Given the description of an element on the screen output the (x, y) to click on. 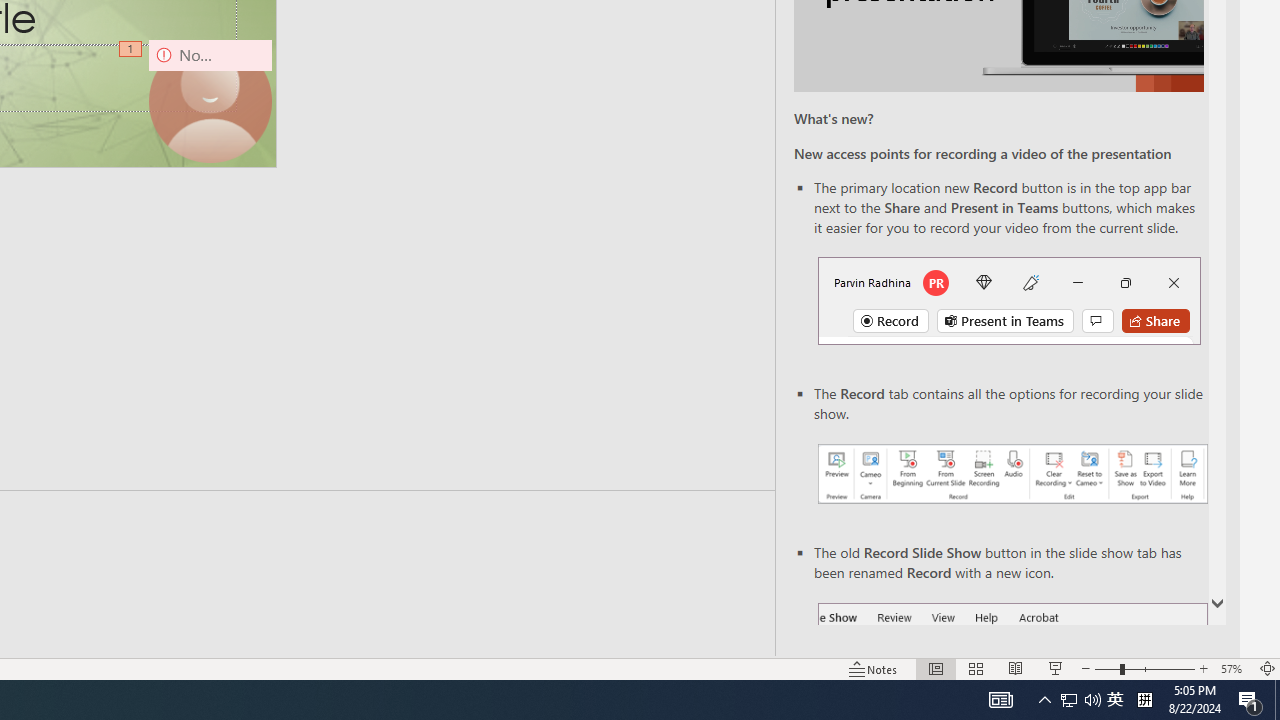
Record your presentations screenshot one (1012, 473)
Animation, sequence 1, on Camera 9 (131, 50)
Record button in top bar (1008, 300)
Zoom 57% (1234, 668)
Camera 9, No camera detected. (210, 101)
